Given the description of an element on the screen output the (x, y) to click on. 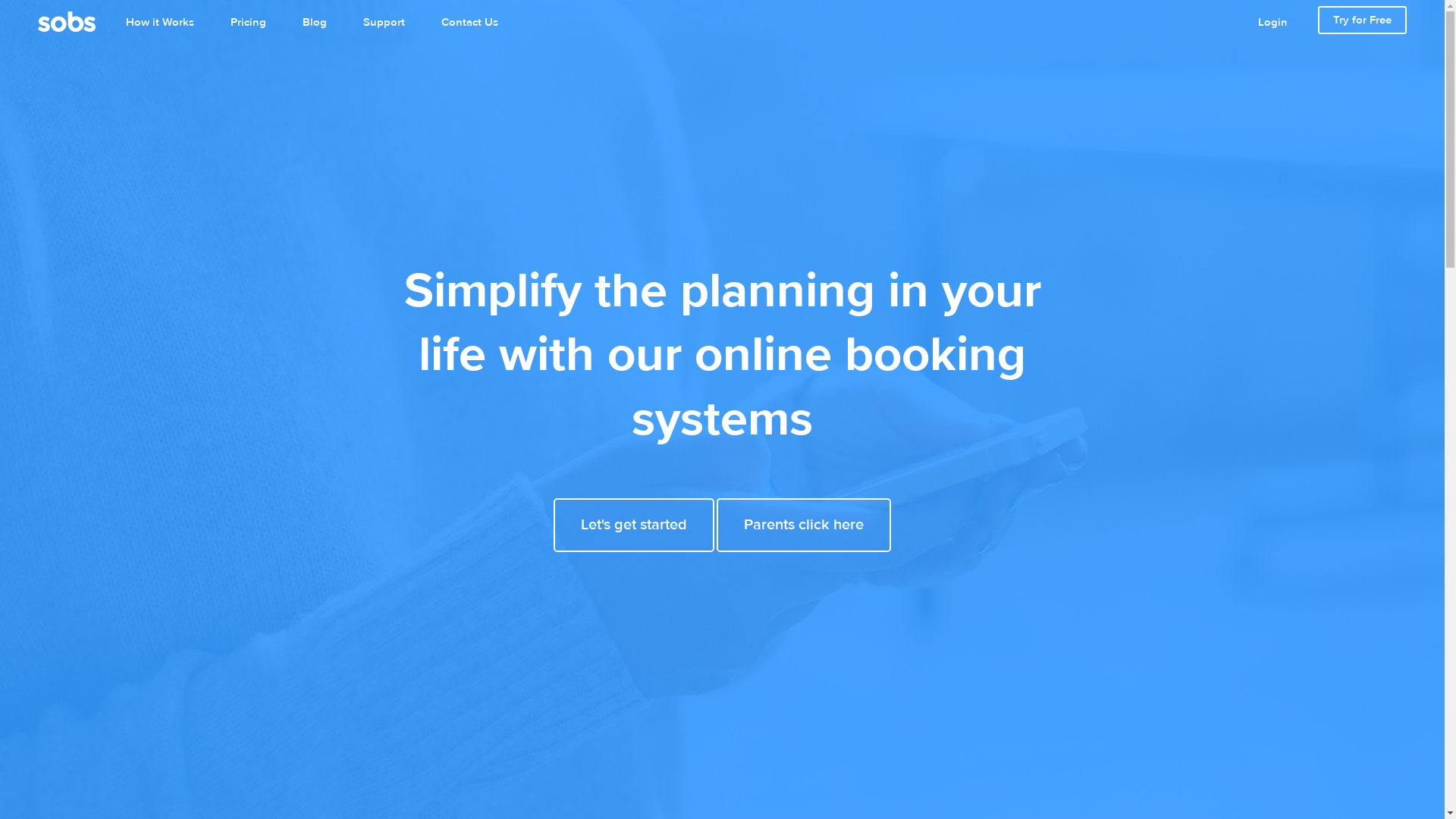
Support Element type: text (384, 22)
Blog Element type: text (314, 22)
Login Element type: text (1272, 22)
Contact Us Element type: text (469, 22)
Try for Free Element type: text (1361, 20)
How it Works Element type: text (159, 22)
Pricing Element type: text (248, 22)
Let's get started Element type: text (633, 525)
Parents click here Element type: text (803, 525)
